Given the description of an element on the screen output the (x, y) to click on. 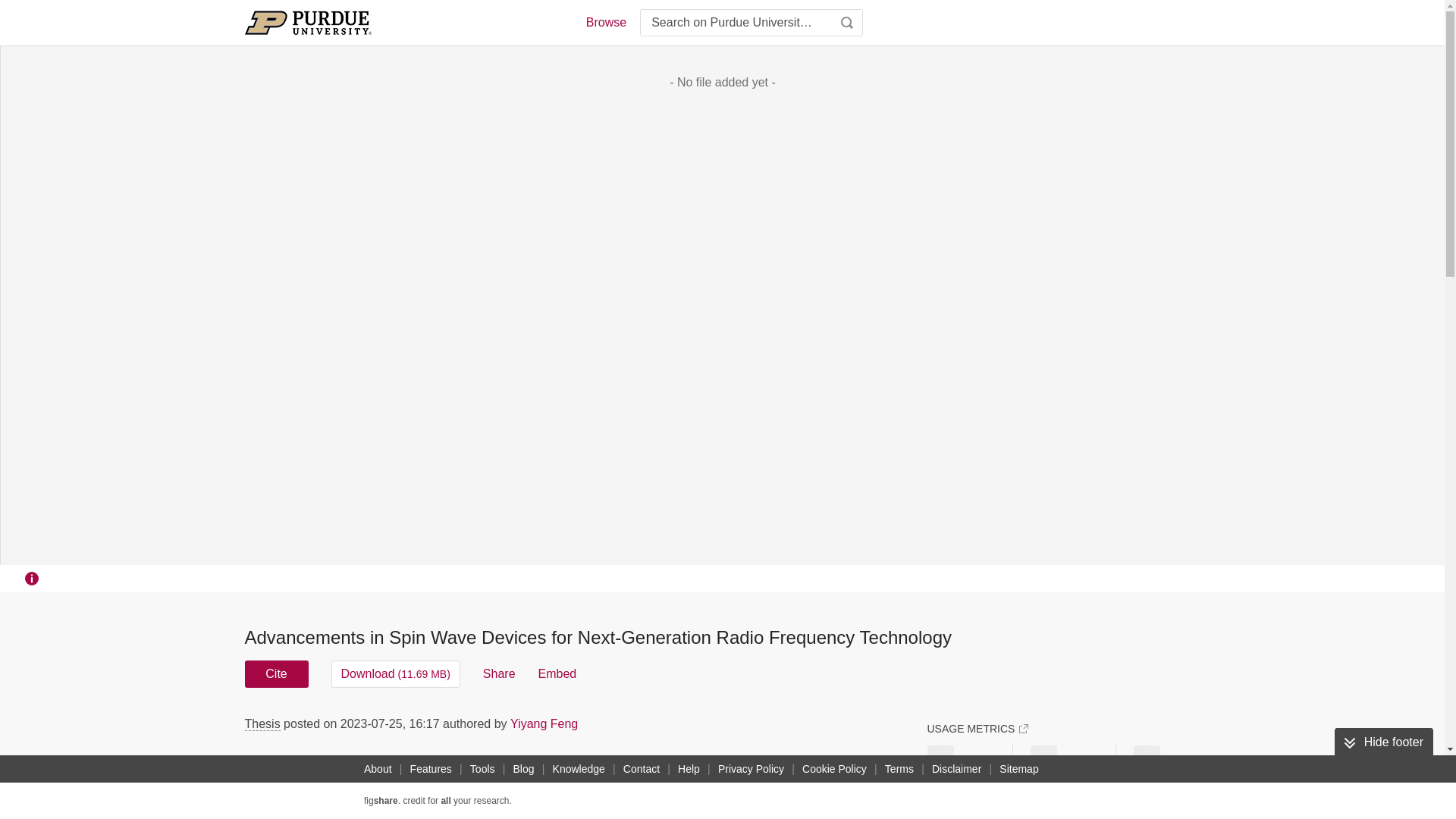
Blog (523, 769)
USAGE METRICS (976, 728)
Hide footer (1383, 742)
Terms (899, 769)
About (377, 769)
Help (688, 769)
Features (431, 769)
Cite (275, 673)
Tools (482, 769)
Yiyang Feng (544, 723)
Share (499, 673)
Contact (640, 769)
Privacy Policy (751, 769)
Knowledge (579, 769)
Embed (557, 673)
